Given the description of an element on the screen output the (x, y) to click on. 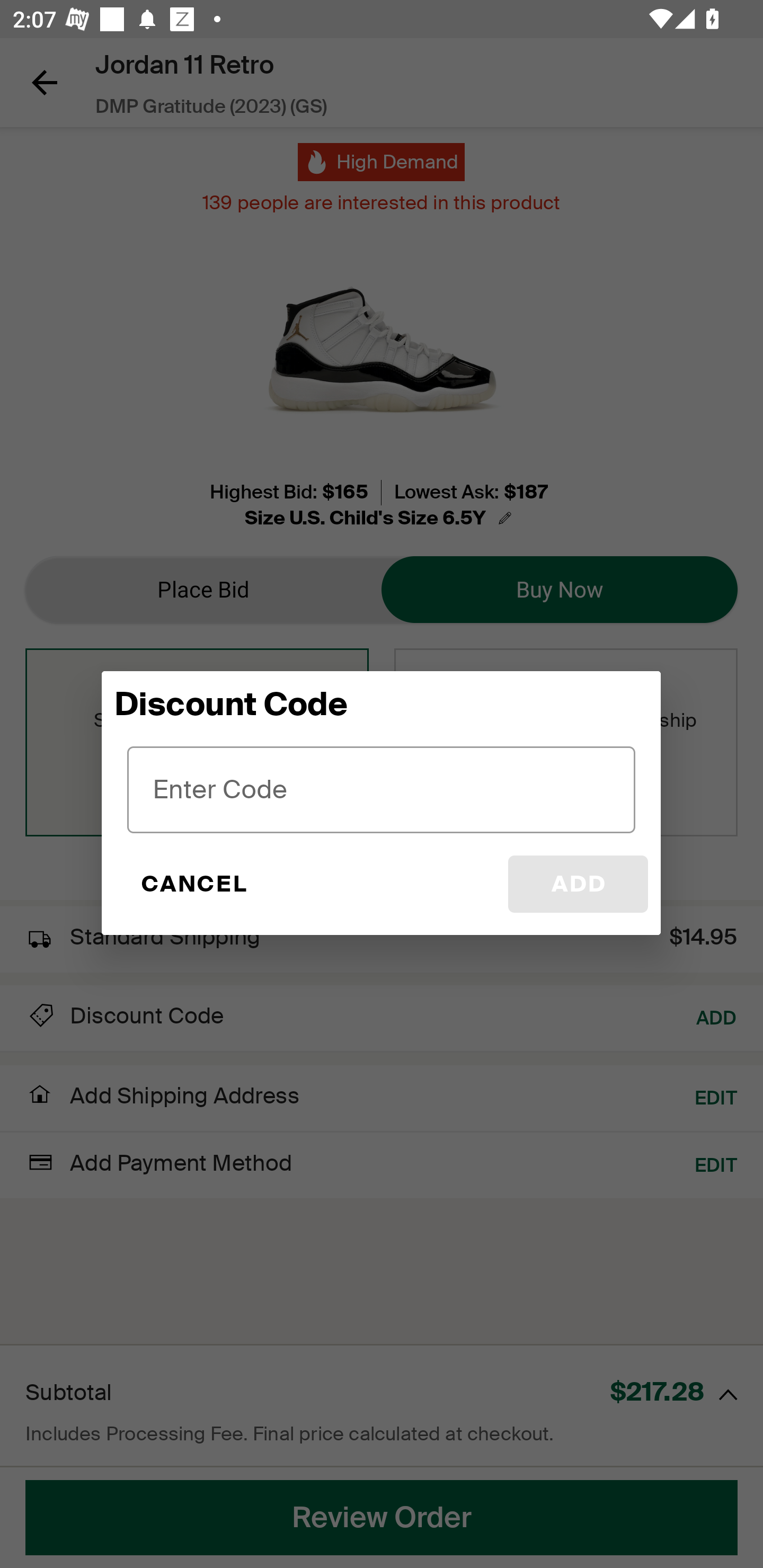
Enter Code (381, 789)
CANCEL (193, 883)
ADD (577, 883)
